Given the description of an element on the screen output the (x, y) to click on. 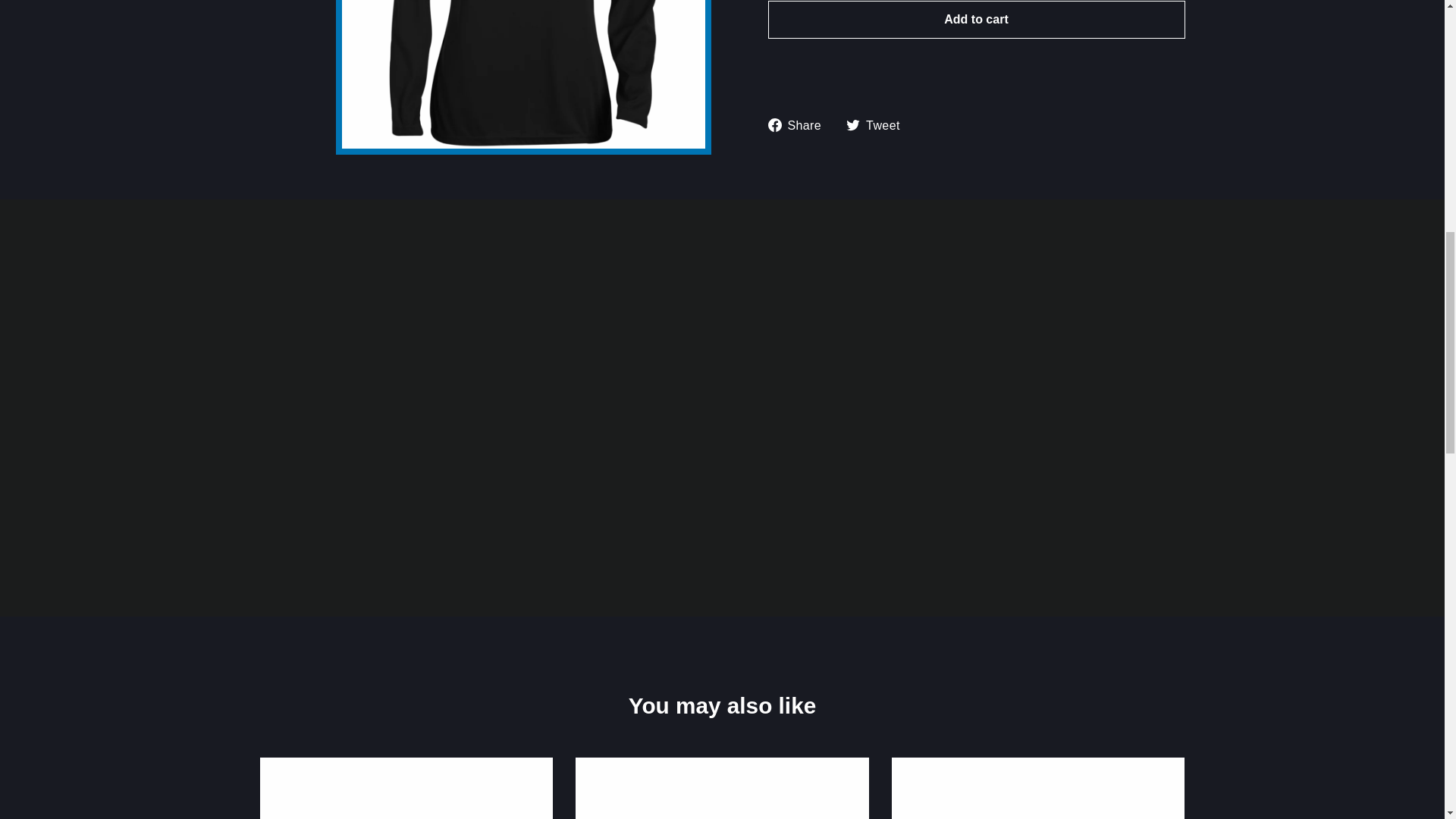
Share on Facebook (799, 125)
Tweet on Twitter (878, 125)
Add to cart (976, 19)
twitter (852, 124)
